Given the description of an element on the screen output the (x, y) to click on. 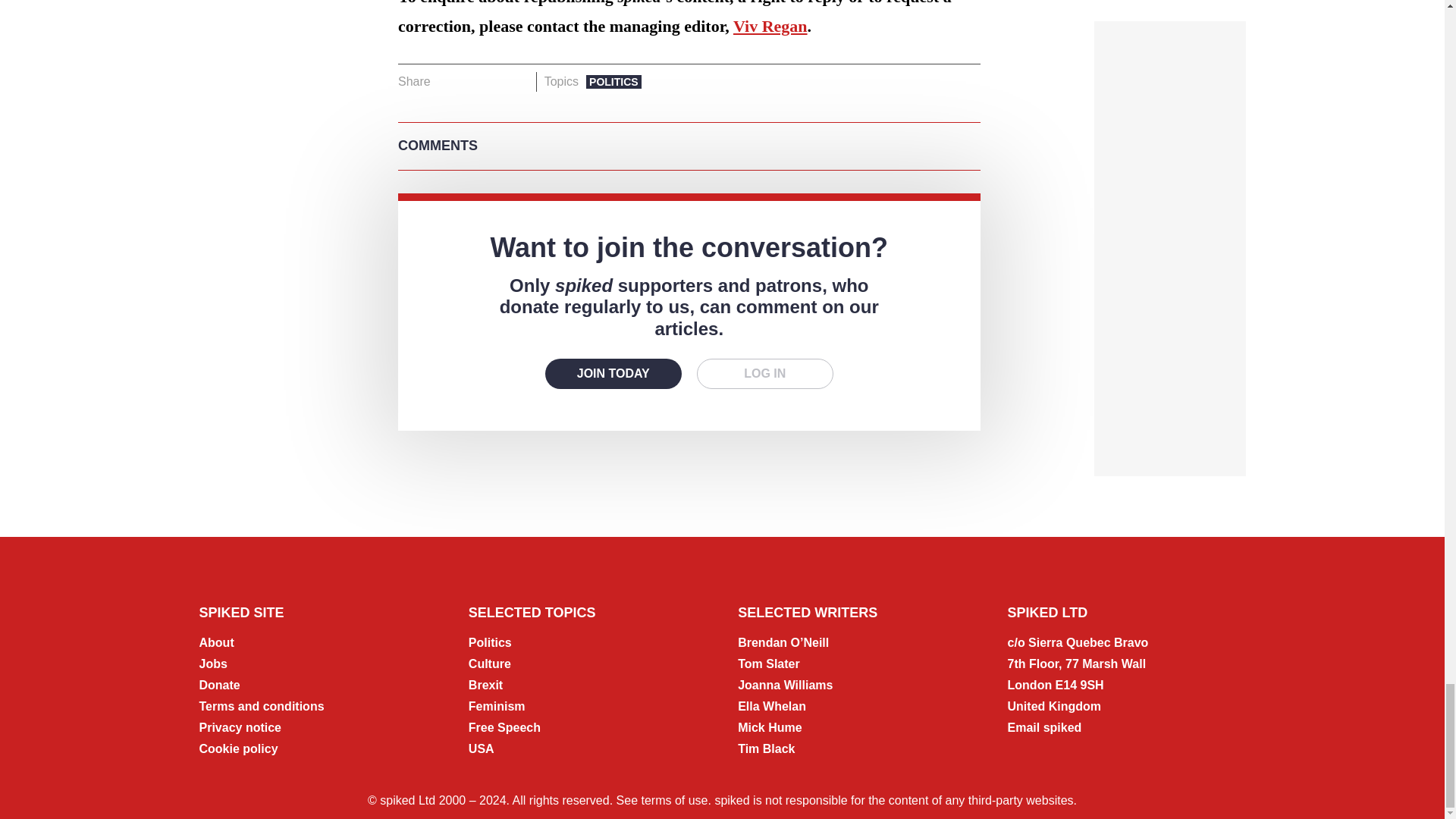
Share on Facebook (448, 81)
Share on Email (518, 81)
Share on Whatsapp (494, 81)
Share on Twitter (471, 81)
